Given the description of an element on the screen output the (x, y) to click on. 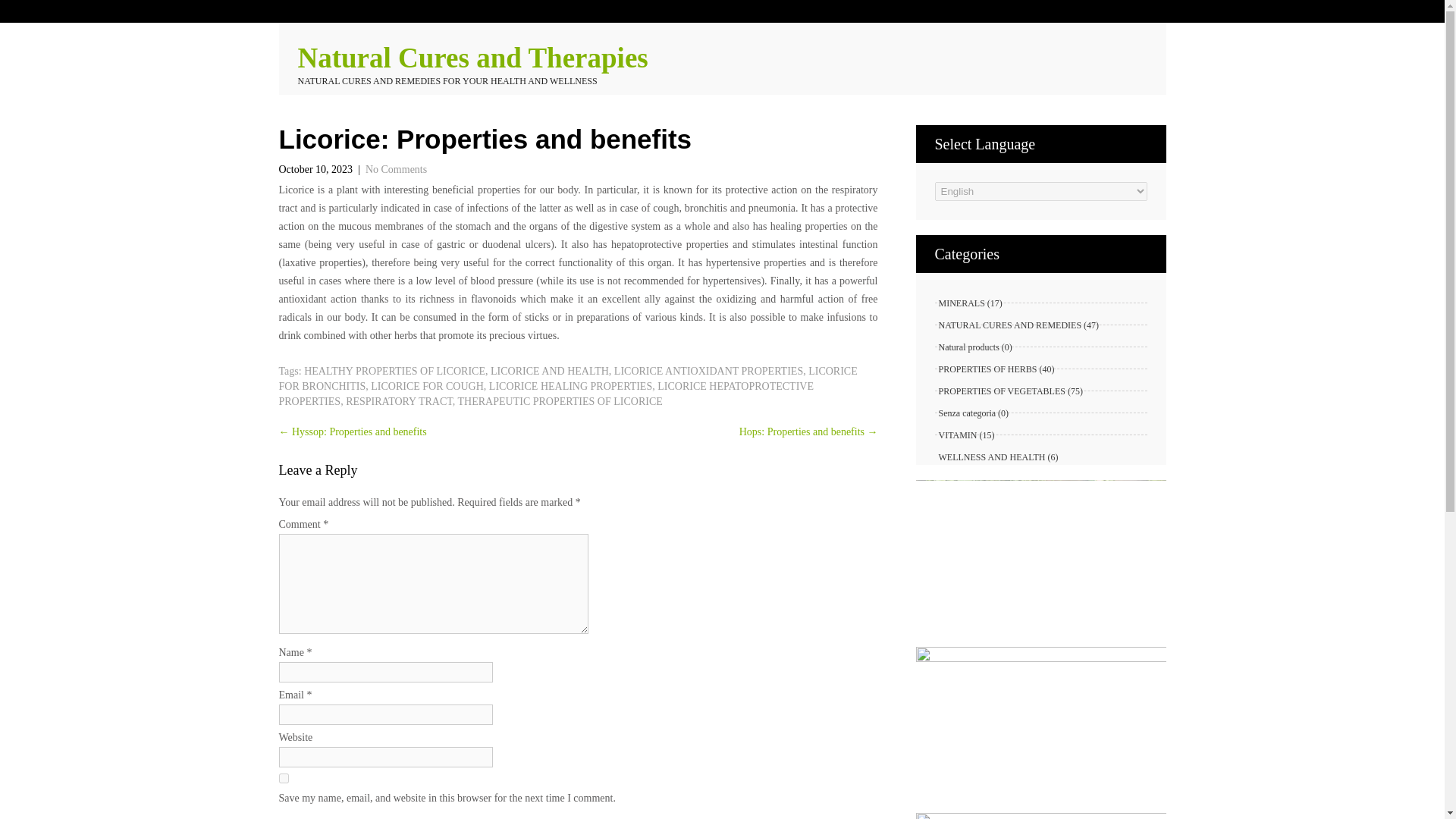
RESPIRATORY TRACT (399, 401)
THERAPEUTIC PROPERTIES OF LICORICE (560, 401)
LICORICE HEPATOPROTECTIVE PROPERTIES (546, 393)
LICORICE HEALING PROPERTIES (570, 386)
LICORICE FOR BRONCHITIS (568, 378)
LICORICE FOR COUGH (427, 386)
LICORICE ANTIOXIDANT PROPERTIES (708, 370)
yes (283, 777)
HEALTHY PROPERTIES OF LICORICE (394, 370)
No Comments (395, 169)
LICORICE AND HEALTH (549, 370)
